Given the description of an element on the screen output the (x, y) to click on. 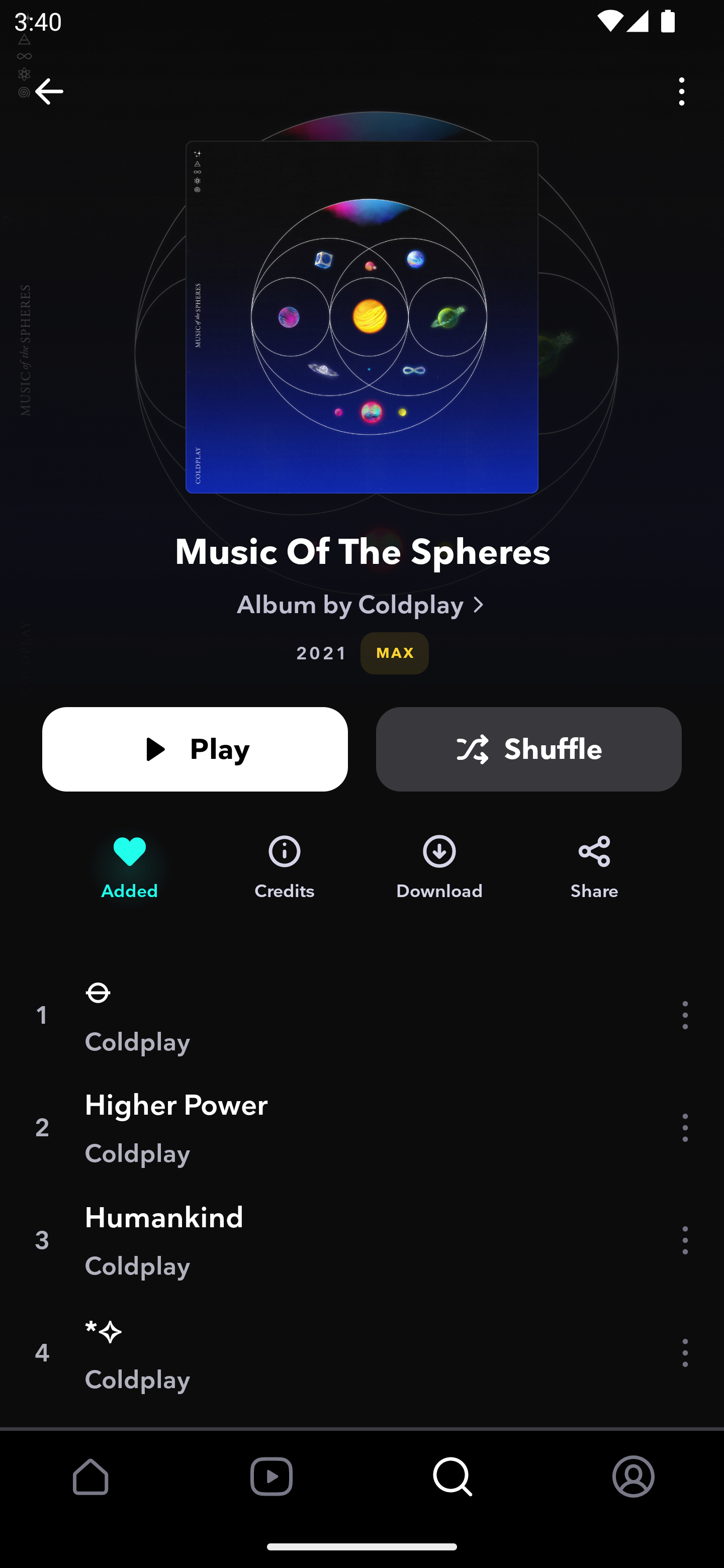
Options (681, 90)
Music Of The Spheres (361, 550)
Album by Coldplay (362, 604)
Play (194, 749)
Shuffle (528, 749)
Remove from My Collection Added (129, 867)
Credits (284, 867)
Download (439, 867)
Share (593, 867)
1 ⦵ Coldplay (362, 1014)
2 Higher Power Coldplay (362, 1126)
3 Humankind Coldplay (362, 1239)
4 *✧ Coldplay (362, 1352)
